Given the description of an element on the screen output the (x, y) to click on. 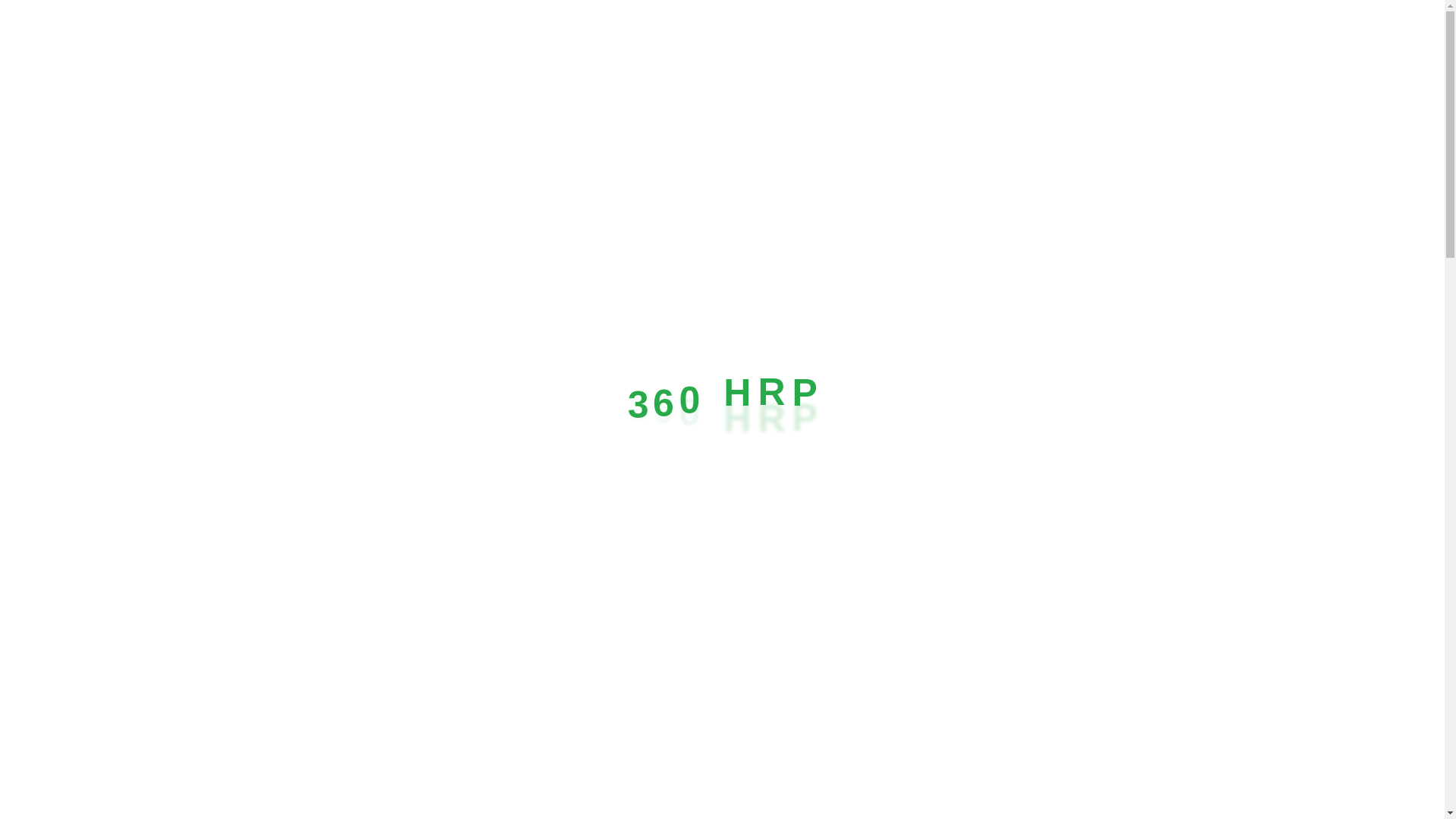
About Us Element type: text (431, 36)
info@360hrp.com Element type: text (1059, 42)
Contact Us Element type: text (788, 36)
Industries Element type: text (619, 36)
Explore More Element type: text (788, 375)
Get Started Now Element type: text (1215, 33)
Contact Us Element type: text (647, 375)
Services Element type: text (524, 36)
Jobs Element type: text (702, 36)
Home Element type: text (351, 36)
